Given the description of an element on the screen output the (x, y) to click on. 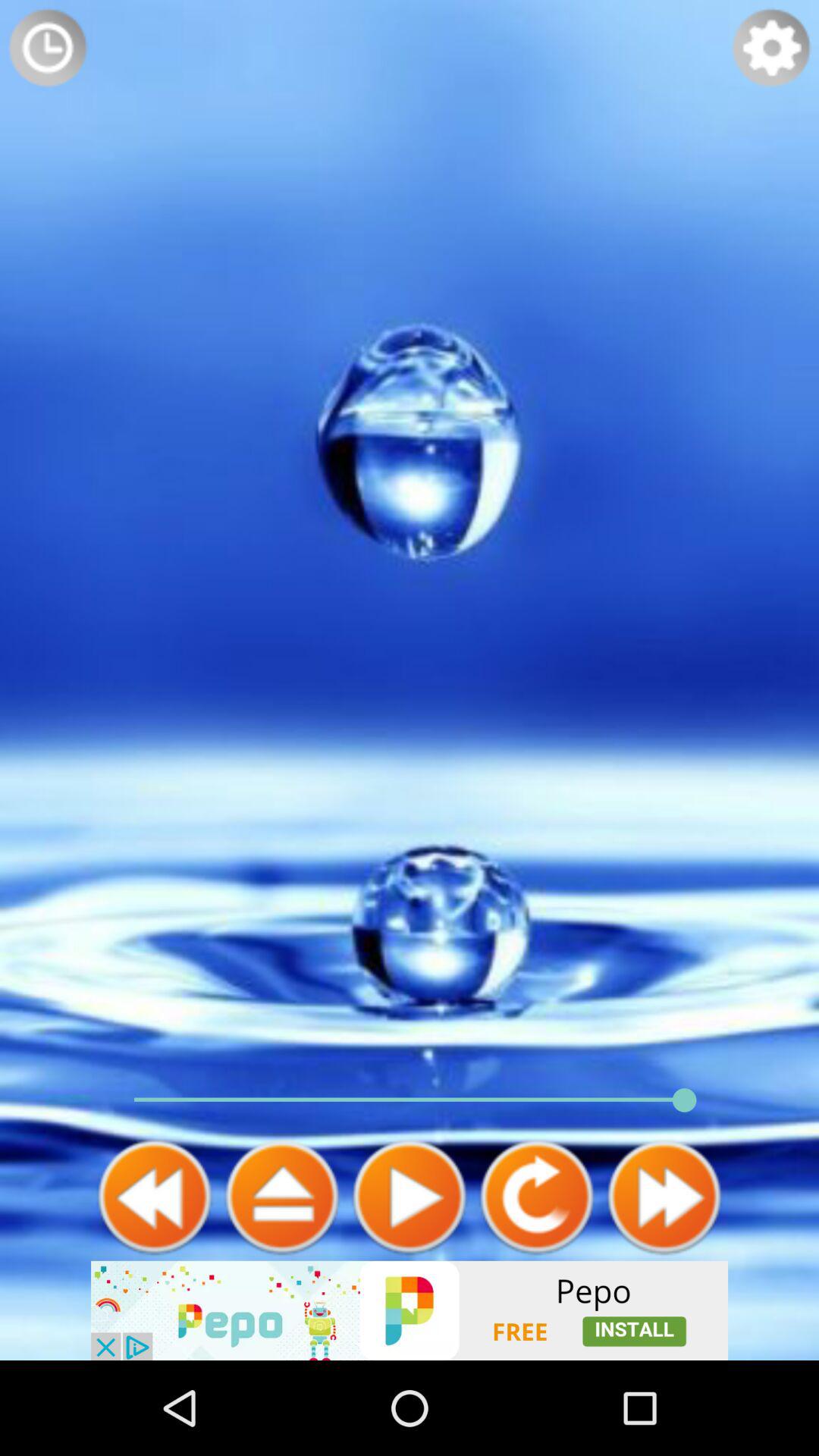
pack page (154, 1196)
